Given the description of an element on the screen output the (x, y) to click on. 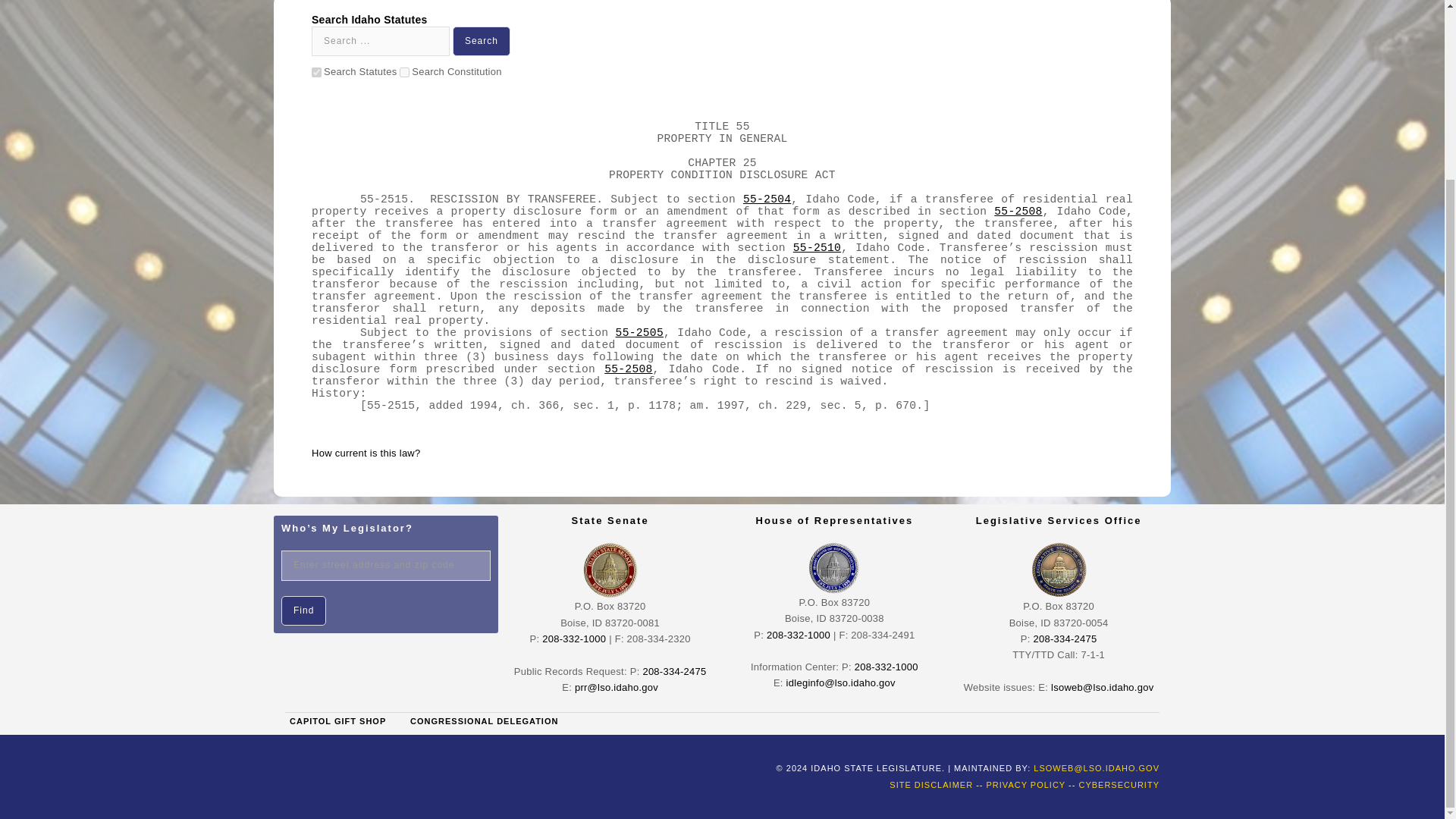
idaho statutes (316, 71)
Search (481, 41)
idaho constitution (403, 71)
Find (303, 610)
